Given the description of an element on the screen output the (x, y) to click on. 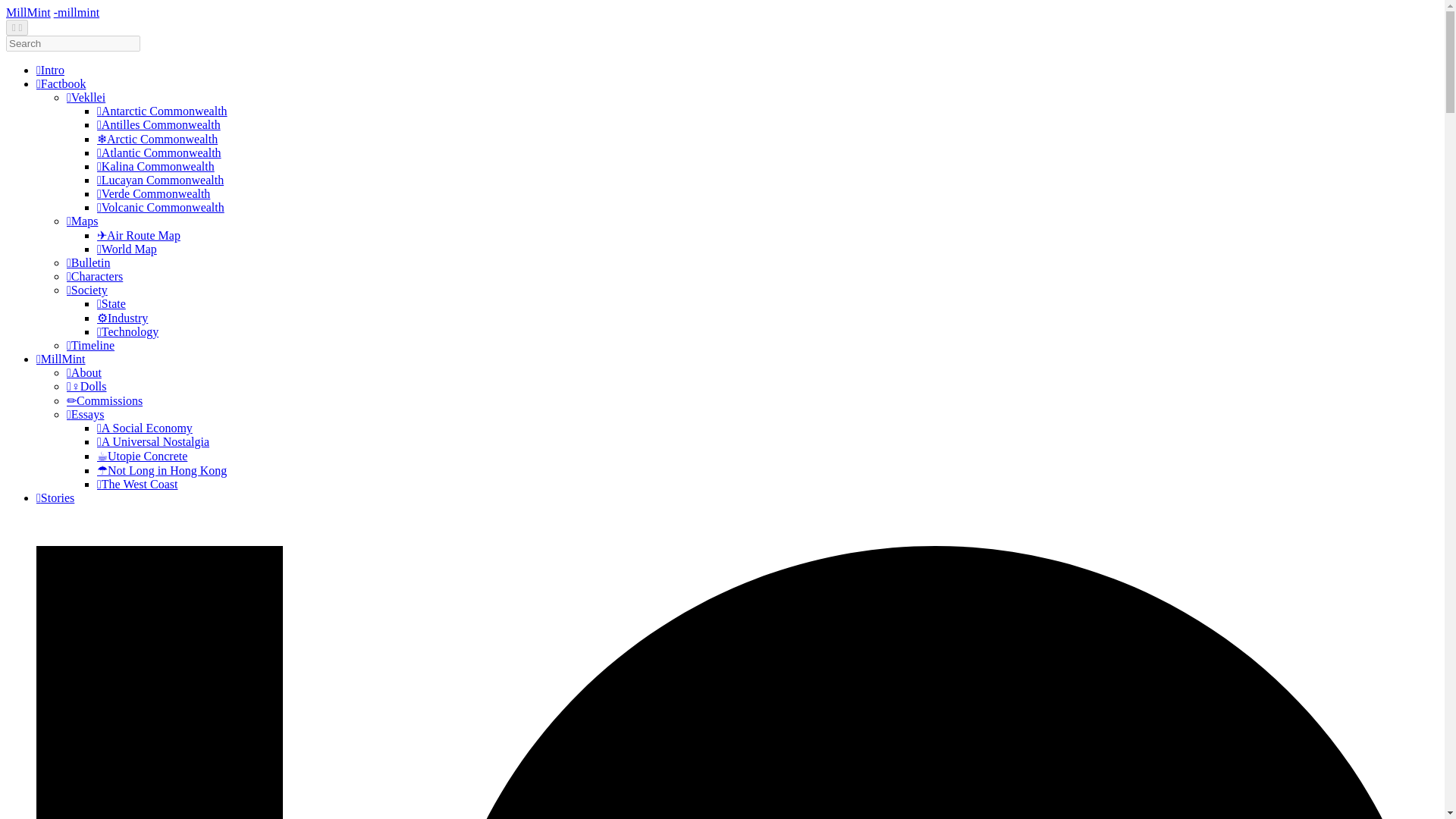
-millmint (76, 11)
MillMint (27, 11)
